Given the description of an element on the screen output the (x, y) to click on. 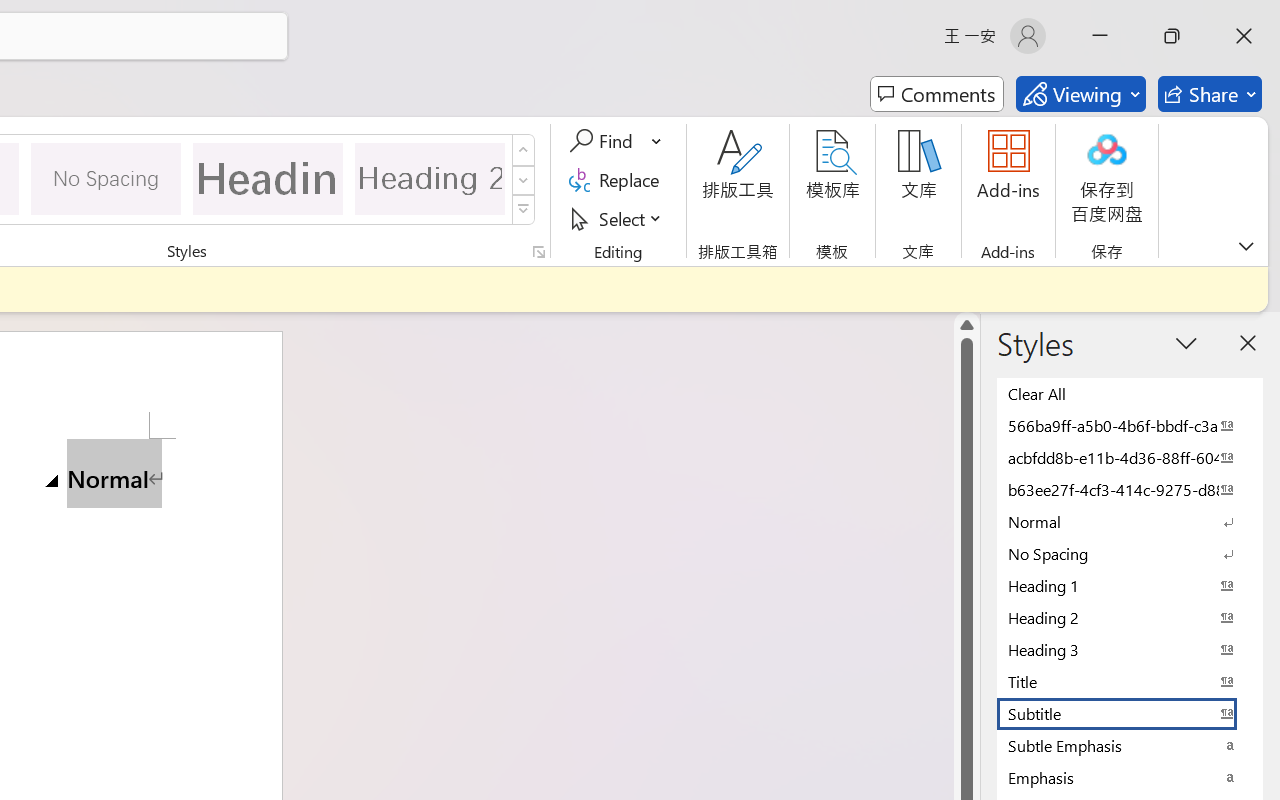
Styles... (538, 252)
Mode (1080, 94)
566ba9ff-a5b0-4b6f-bbdf-c3ab41993fc2 (1130, 425)
